Given the description of an element on the screen output the (x, y) to click on. 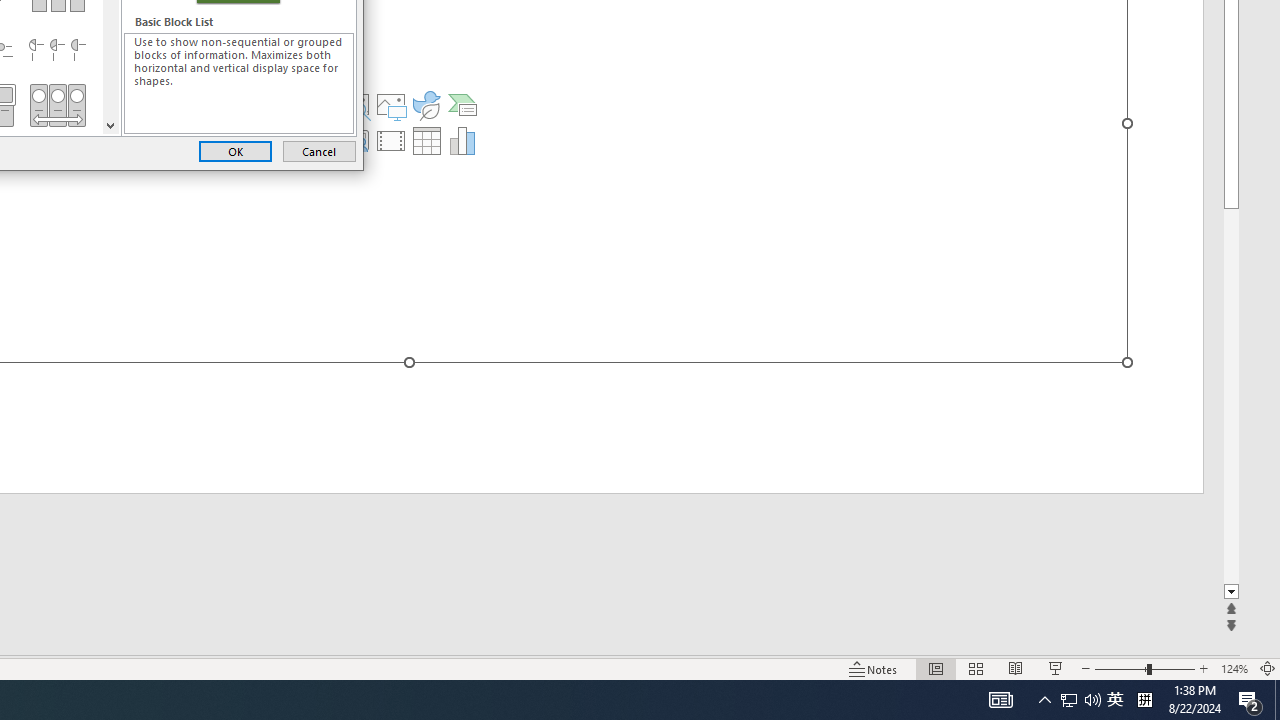
Zoom 124% (1234, 668)
